Given the description of an element on the screen output the (x, y) to click on. 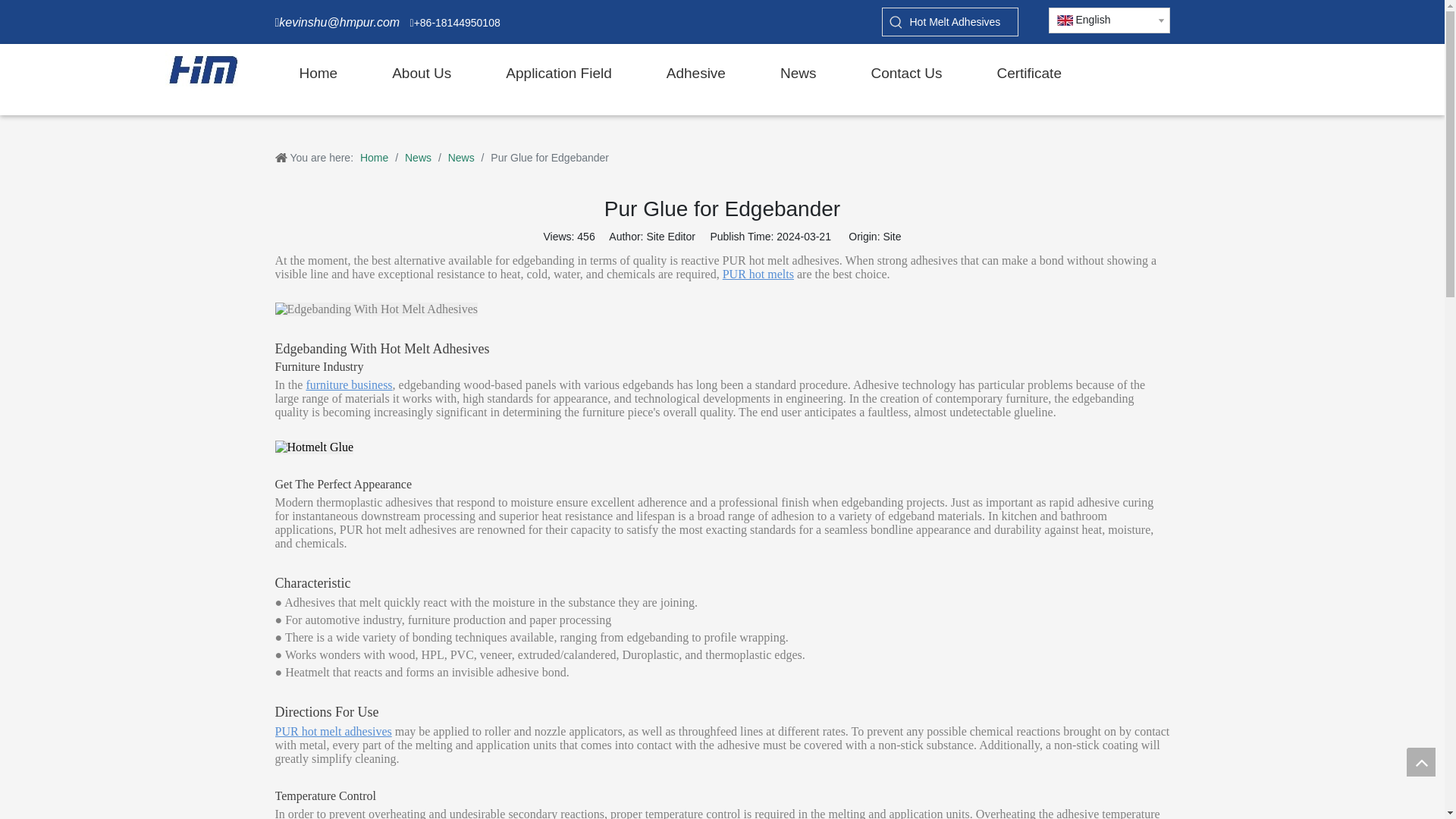
Home (330, 73)
About Us (433, 73)
Adhesive (707, 73)
News (810, 73)
Certificate (1040, 73)
Edgebanding With Hot Melt Adhesives (376, 309)
Contact Us (918, 73)
Hotmelt Glue (314, 447)
Application Field (570, 73)
logo3 (203, 69)
